Given the description of an element on the screen output the (x, y) to click on. 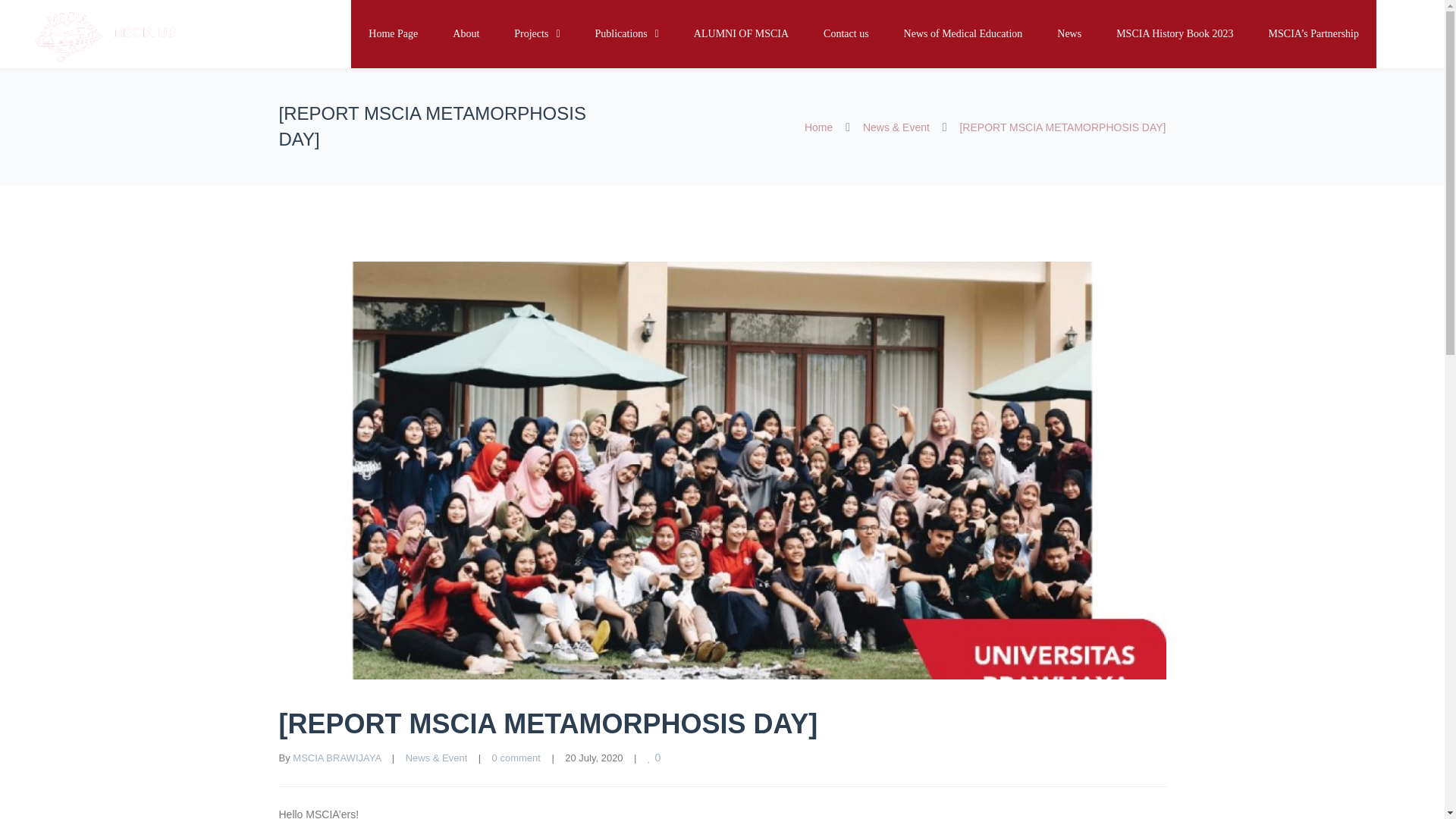
ALUMNI OF MSCIA (741, 33)
Publications (627, 33)
Home Page (392, 33)
MSCIA (106, 35)
News of Medical Education (963, 33)
Projects (536, 33)
Posts by MSCIA BRAWIJAYA (336, 757)
Home (818, 127)
0 comment (516, 757)
About (465, 33)
MSCIA History Book 2023 (1174, 33)
Contact us (846, 33)
MSCIA BRAWIJAYA (336, 757)
0  (655, 757)
